Given the description of an element on the screen output the (x, y) to click on. 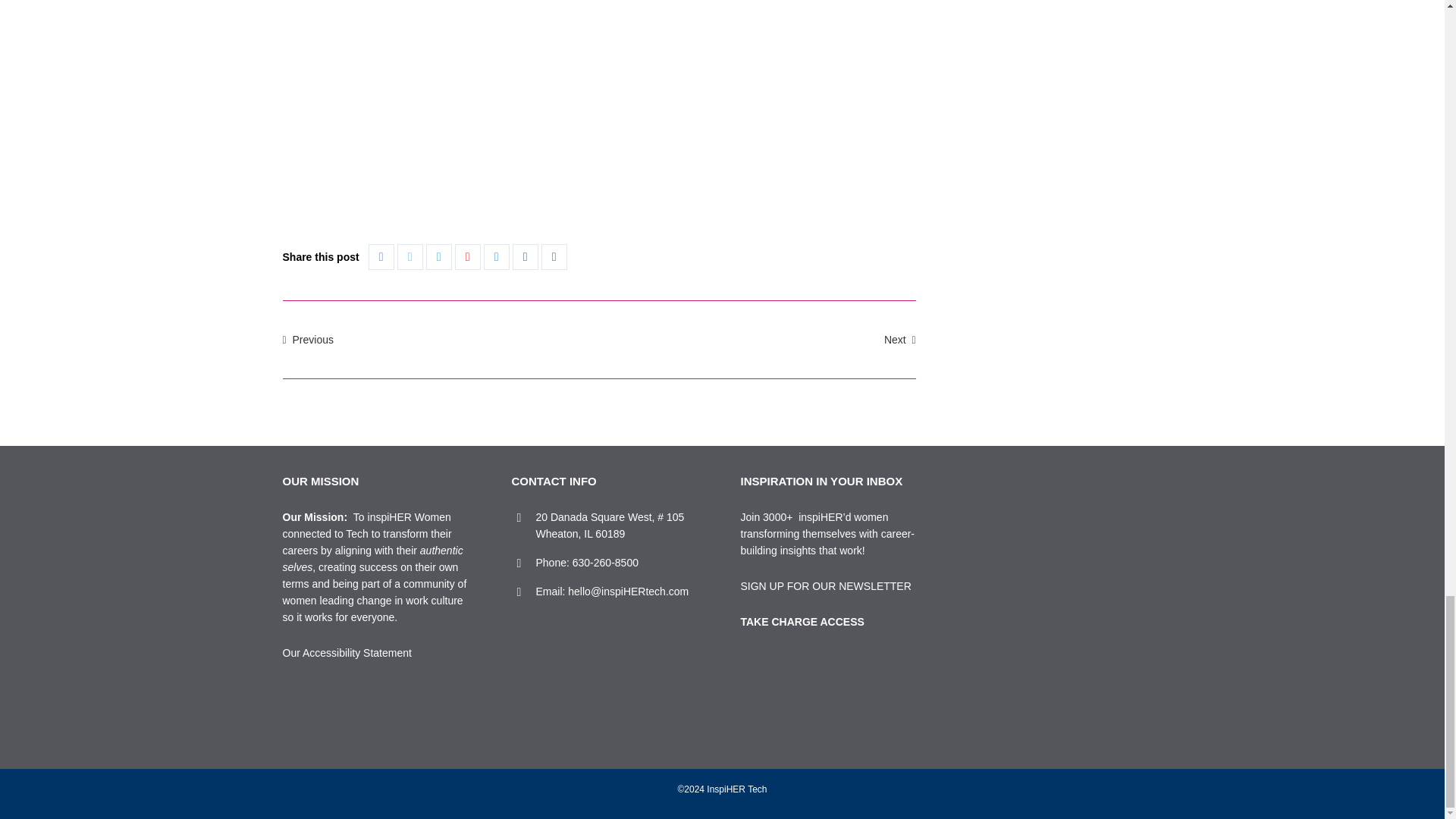
Share on LinkedIn (438, 256)
Share on Tumblr (525, 256)
Share on Pinterest (467, 256)
Share on Reddit (496, 256)
Share on Twitter (409, 256)
Share on Facebook (381, 256)
Share on WhatsApp (553, 256)
